Given the description of an element on the screen output the (x, y) to click on. 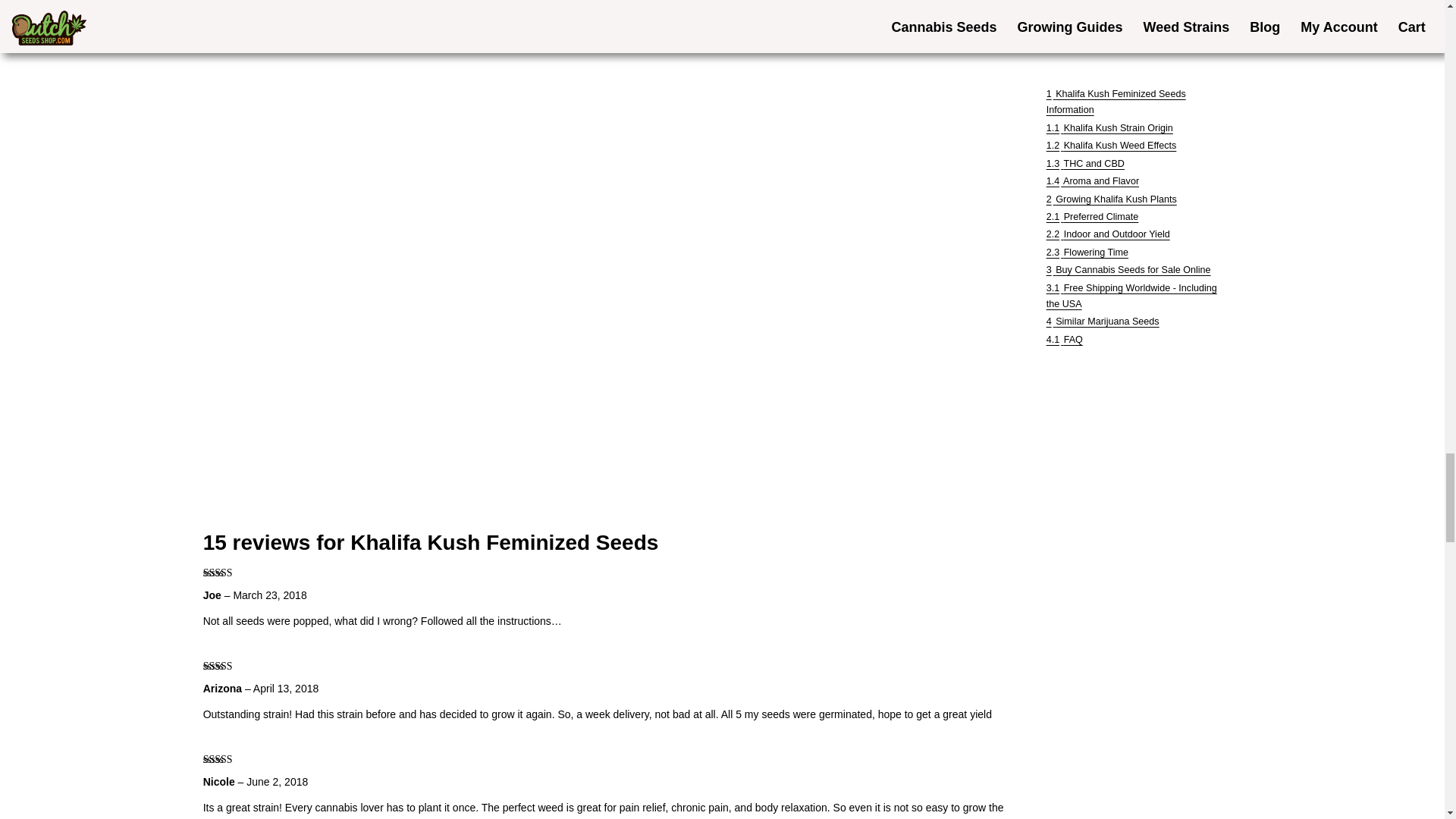
Rated 4 out of 5 (231, 573)
Rated 5 out of 5 (231, 759)
Rated 5 out of 5 (231, 665)
